Given the description of an element on the screen output the (x, y) to click on. 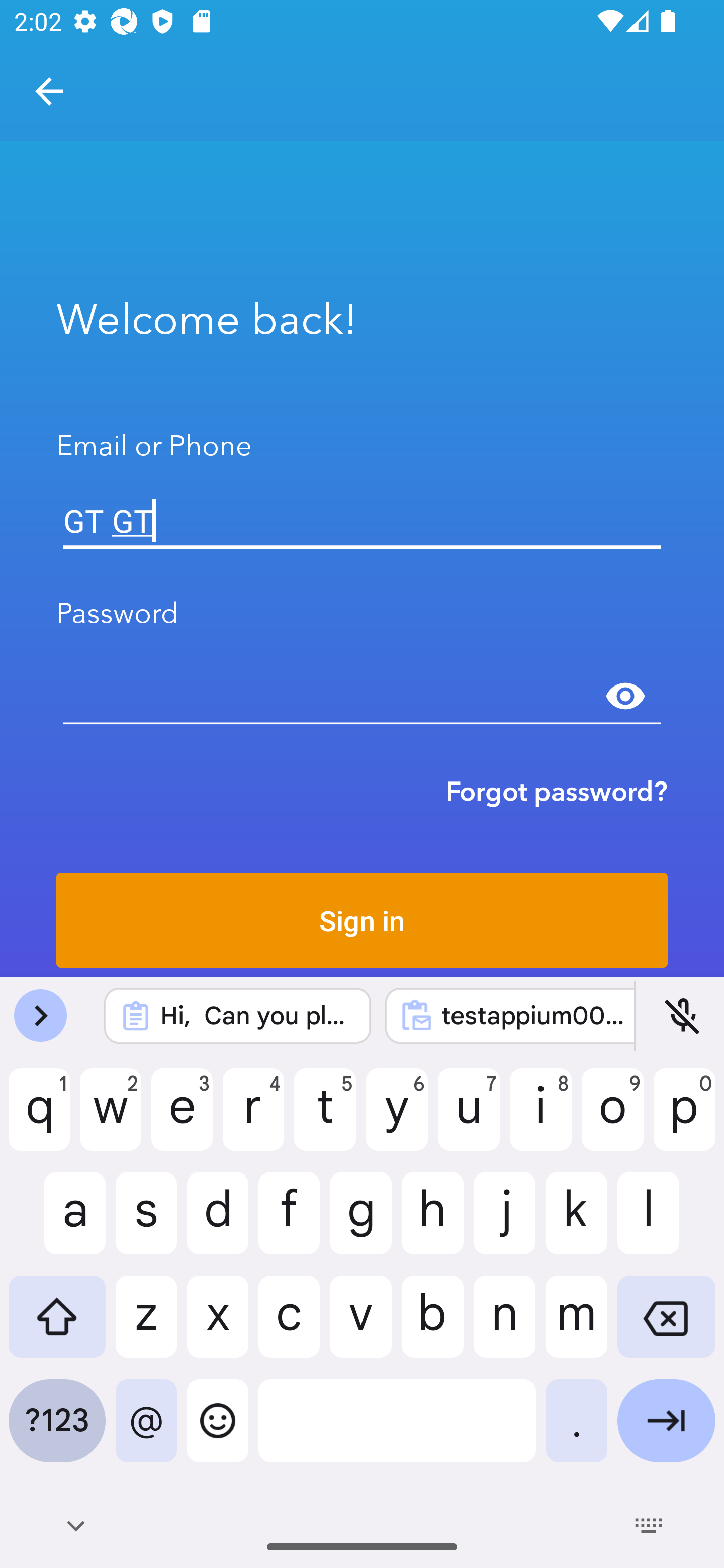
Navigate up (49, 91)
GT GT (361, 521)
Show password (625, 695)
Forgot password? (556, 790)
Sign in (361, 920)
